Given the description of an element on the screen output the (x, y) to click on. 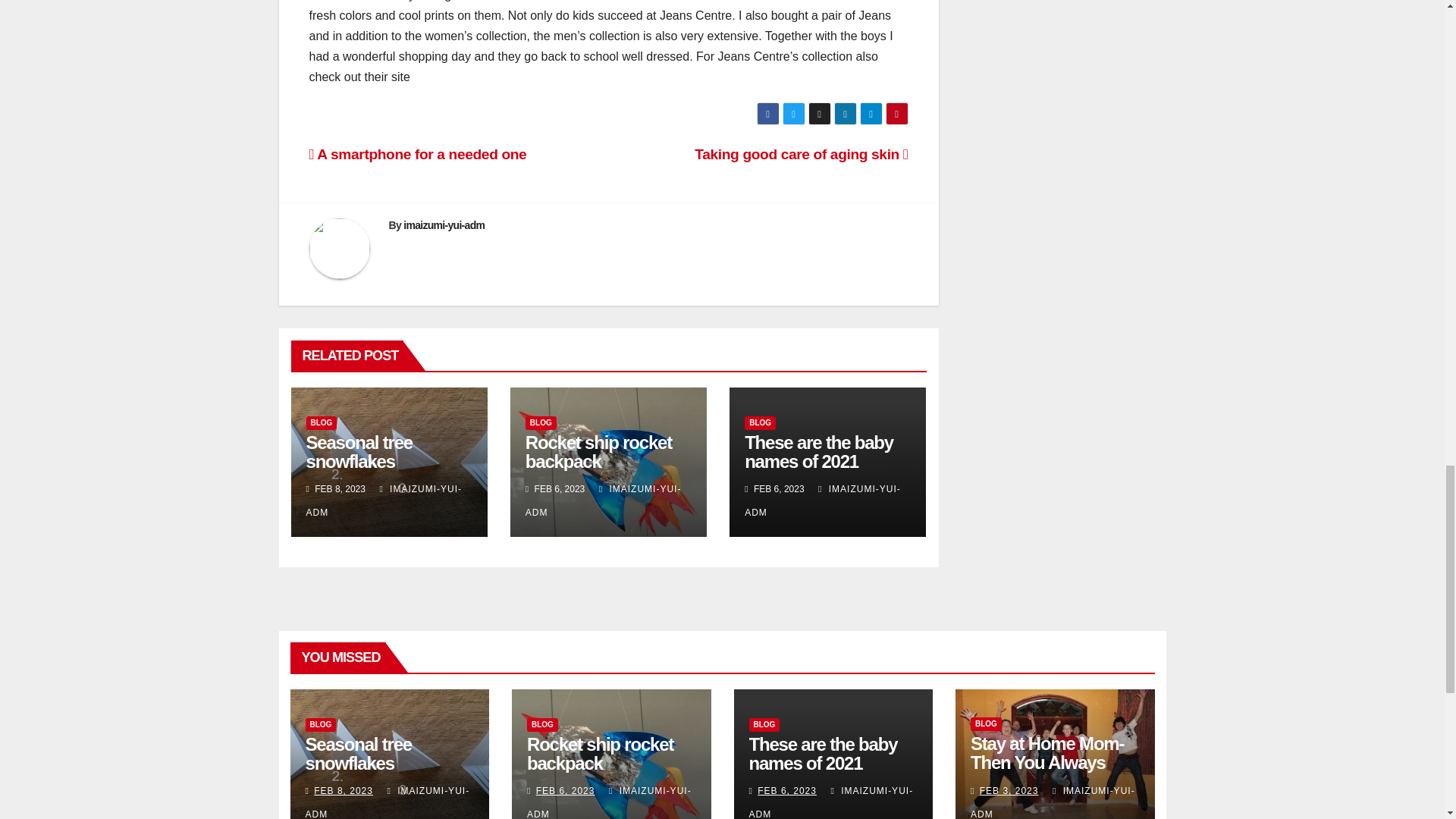
These are the baby names of 2021 (818, 451)
BLOG (320, 725)
Permalink to: These are the baby names of 2021 (823, 753)
Permalink to: Rocket ship rocket backpack (598, 451)
Seasonal tree snowflakes (358, 451)
Permalink to: Seasonal tree snowflakes (357, 753)
IMAIZUMI-YUI-ADM (603, 500)
Seasonal tree snowflakes (357, 753)
IMAIZUMI-YUI-ADM (386, 802)
Rocket ship rocket backpack (598, 451)
Permalink to: Rocket ship rocket backpack (599, 753)
IMAIZUMI-YUI-ADM (384, 500)
Permalink to: Stay at Home Mom-Then You Always Have Vacation (1047, 762)
IMAIZUMI-YUI-ADM (822, 500)
Permalink to: These are the baby names of 2021 (818, 451)
